Given the description of an element on the screen output the (x, y) to click on. 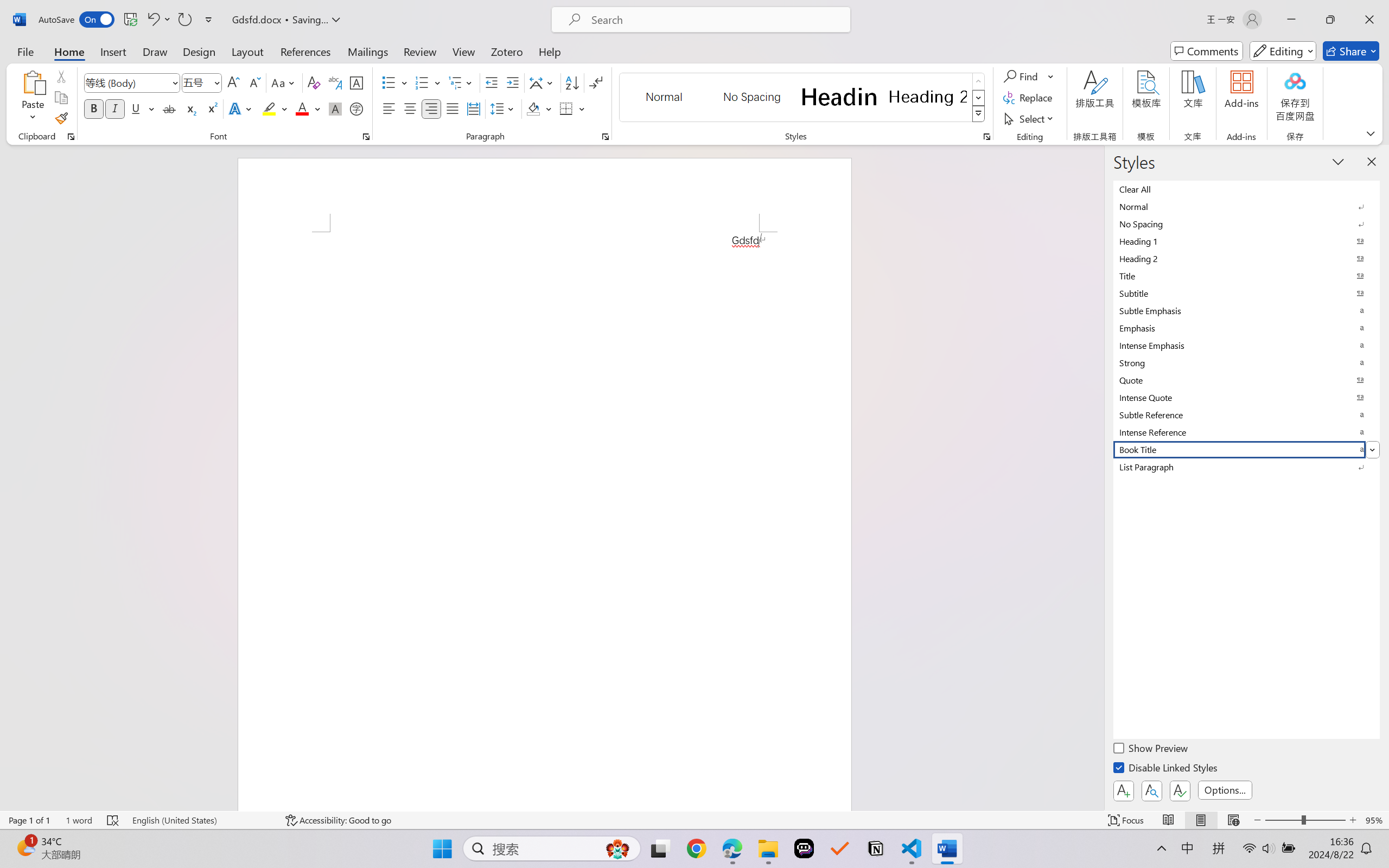
Styles (978, 113)
Spelling and Grammar Check Errors (113, 819)
Replace... (1029, 97)
Shading (539, 108)
Justify (452, 108)
Line and Paragraph Spacing (503, 108)
Subtitle (1246, 293)
Character Shading (334, 108)
Normal (1246, 206)
Clear All (1246, 188)
Strikethrough (169, 108)
